Given the description of an element on the screen output the (x, y) to click on. 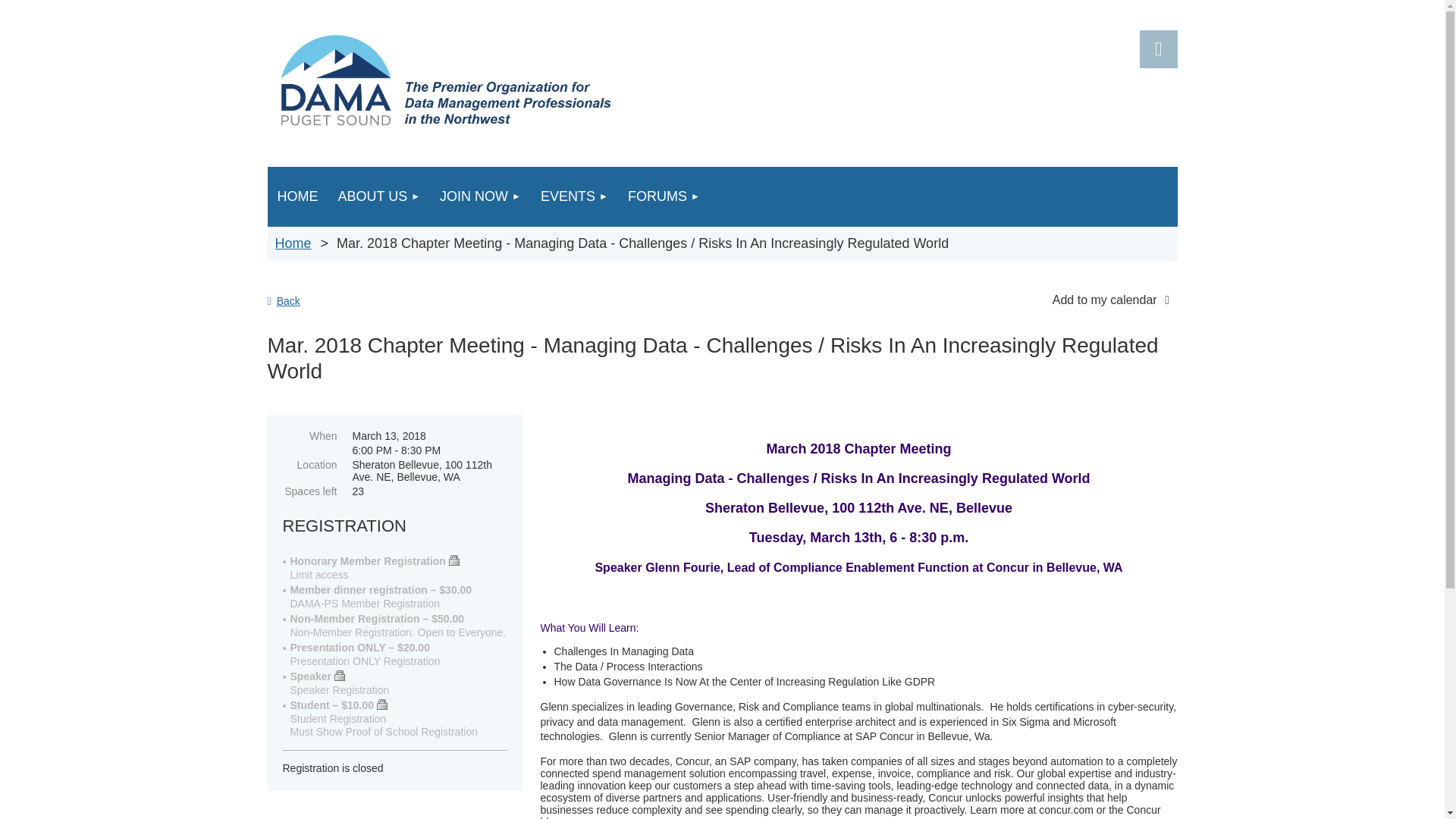
Log in (1157, 48)
EVENTS (574, 196)
ABOUT US (378, 196)
FORUMS (663, 196)
HOME (296, 196)
JOIN NOW (480, 196)
